Given the description of an element on the screen output the (x, y) to click on. 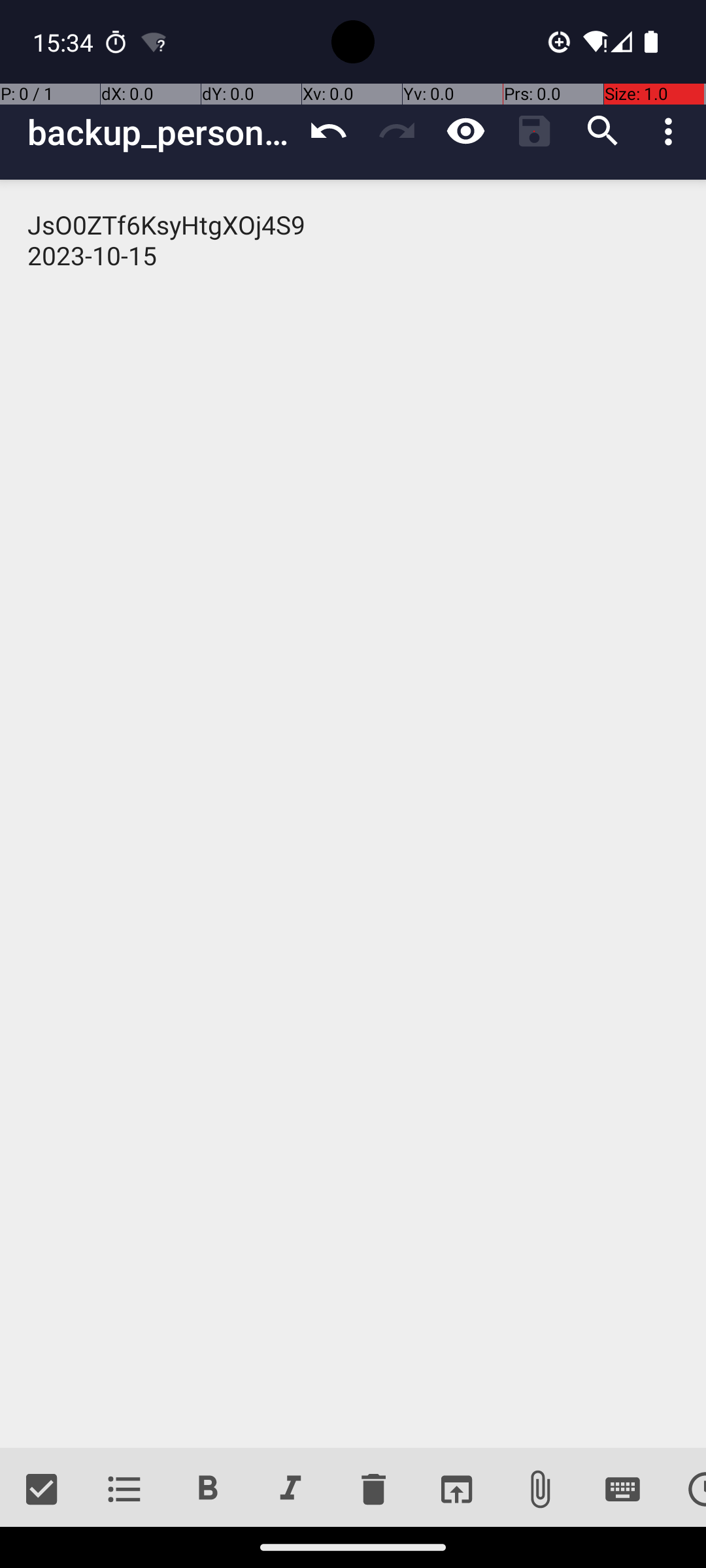
backup_personal_goals_2024 Element type: android.widget.TextView (160, 131)
JsO0ZTf6KsyHtgXOj4S9
2023-10-15 Element type: android.widget.EditText (353, 813)
